Given the description of an element on the screen output the (x, y) to click on. 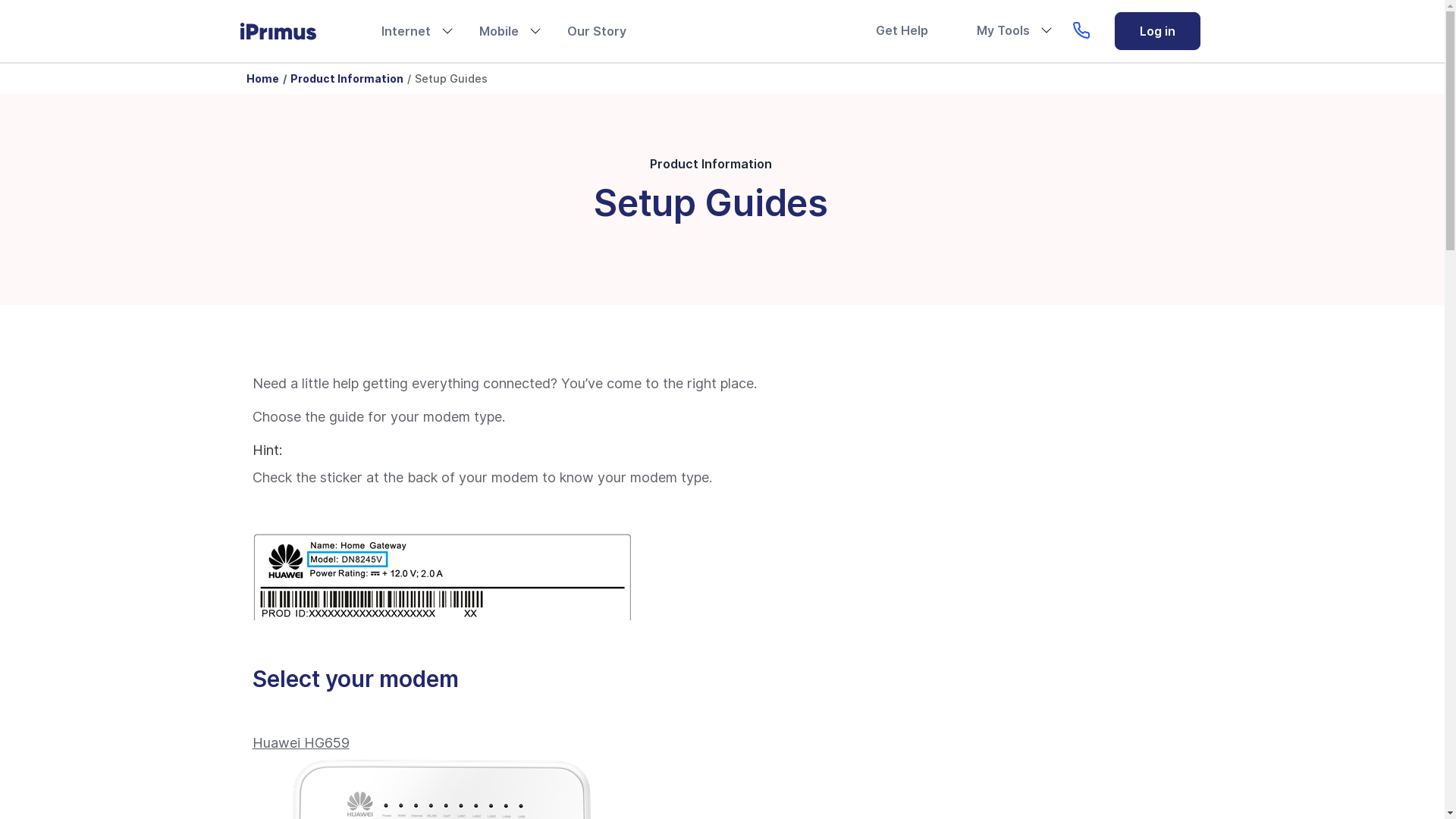
Internet Element type: text (405, 30)
Log in Element type: text (1157, 31)
Get Help Element type: text (900, 30)
Our Story Element type: text (596, 30)
Home Element type: hover (290, 31)
My Tools Element type: text (1003, 30)
Product Information Element type: text (345, 78)
Huawei HG659 Element type: text (299, 742)
Mobile Element type: text (498, 30)
Home Element type: text (261, 78)
